Given the description of an element on the screen output the (x, y) to click on. 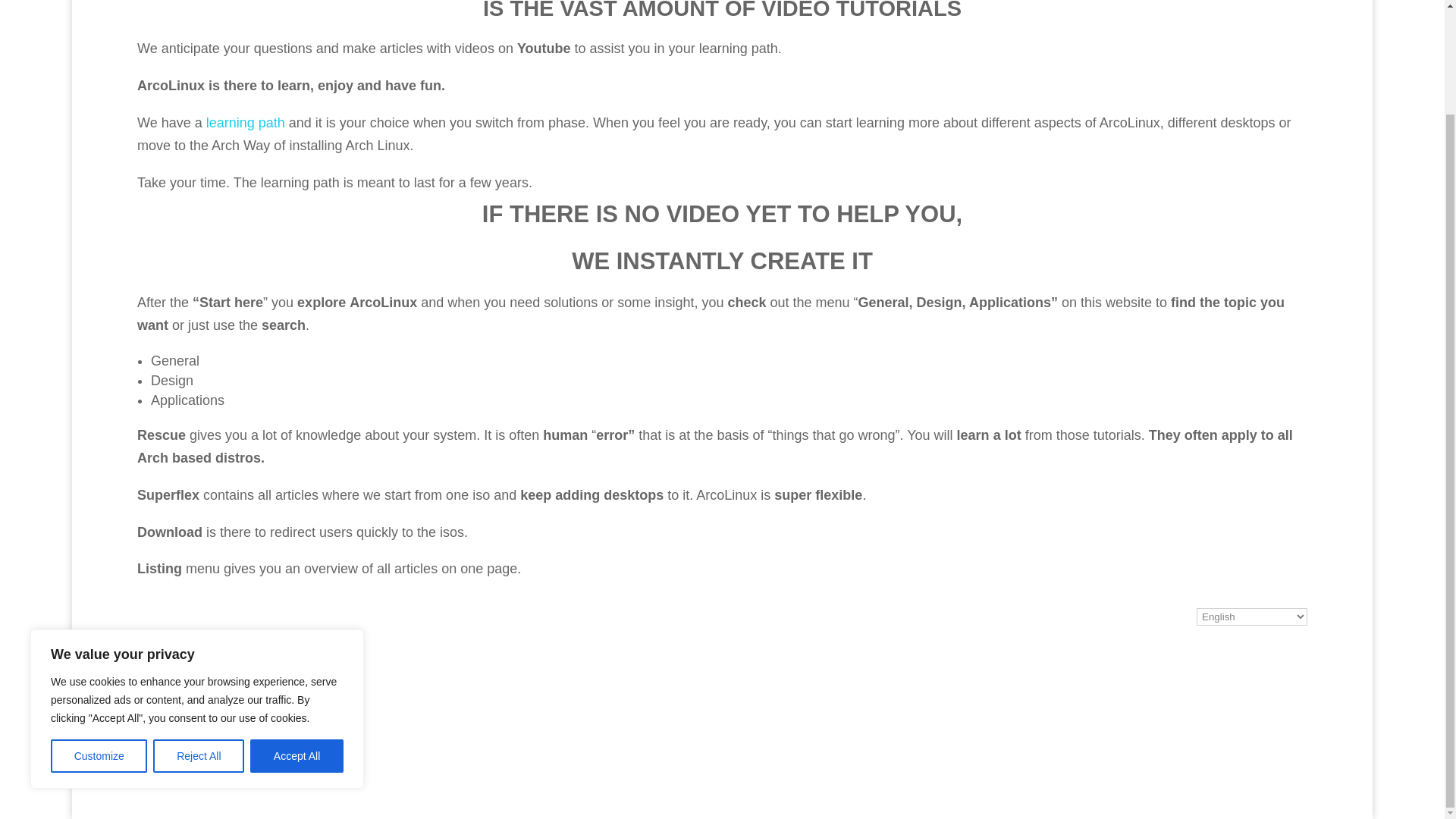
Customize (98, 633)
Accept All (296, 633)
Reject All (198, 633)
